Given the description of an element on the screen output the (x, y) to click on. 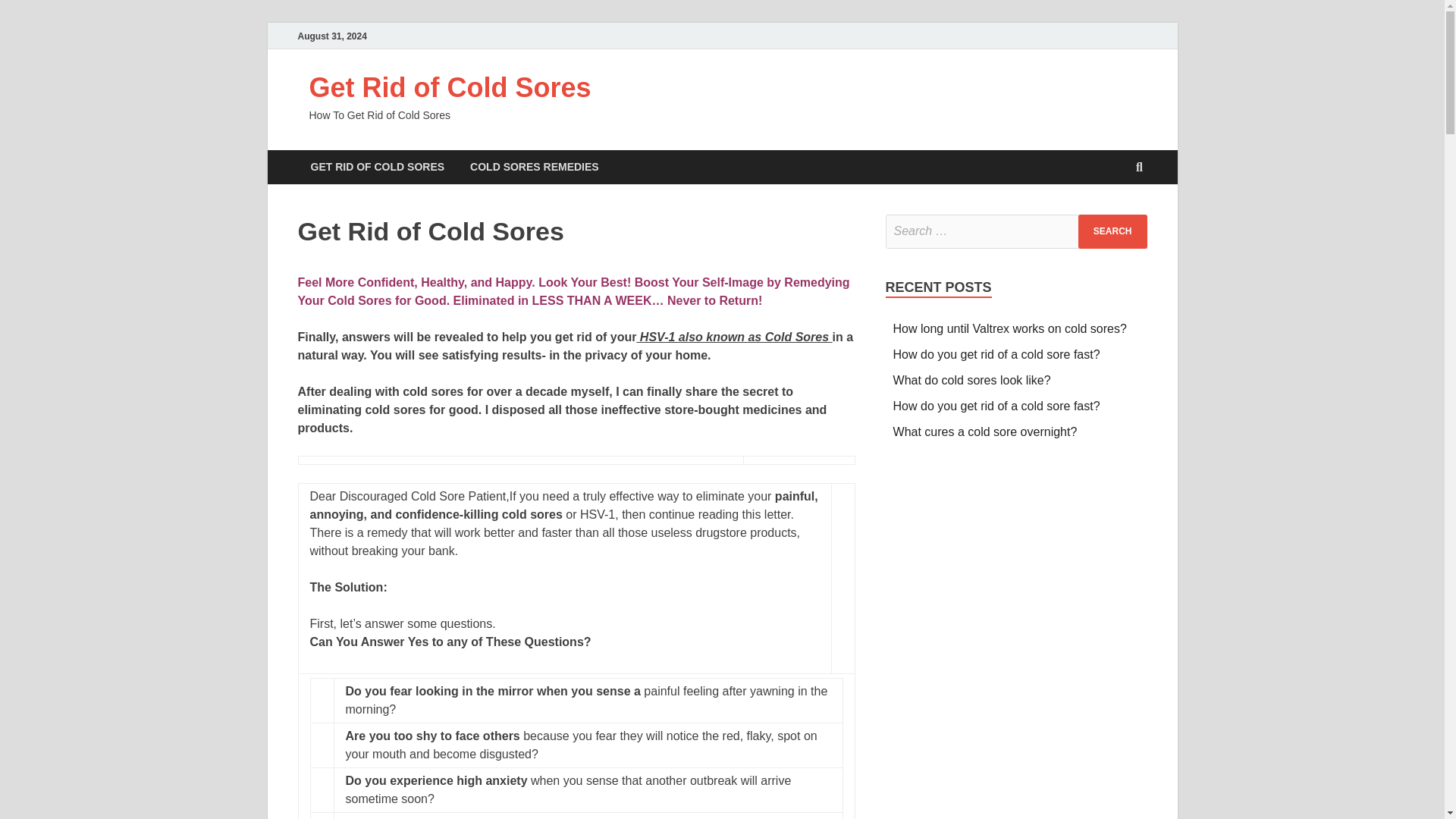
What do cold sores look like? (972, 379)
Get Rid of Cold Sores (449, 87)
How do you get rid of a cold sore fast? (996, 405)
COLD SORES REMEDIES (534, 166)
GET RID OF COLD SORES (377, 166)
How do you get rid of a cold sore fast? (996, 354)
Search (1112, 231)
What cures a cold sore overnight? (985, 431)
How long until Valtrex works on cold sores? (1009, 328)
Search (1112, 231)
